Given the description of an element on the screen output the (x, y) to click on. 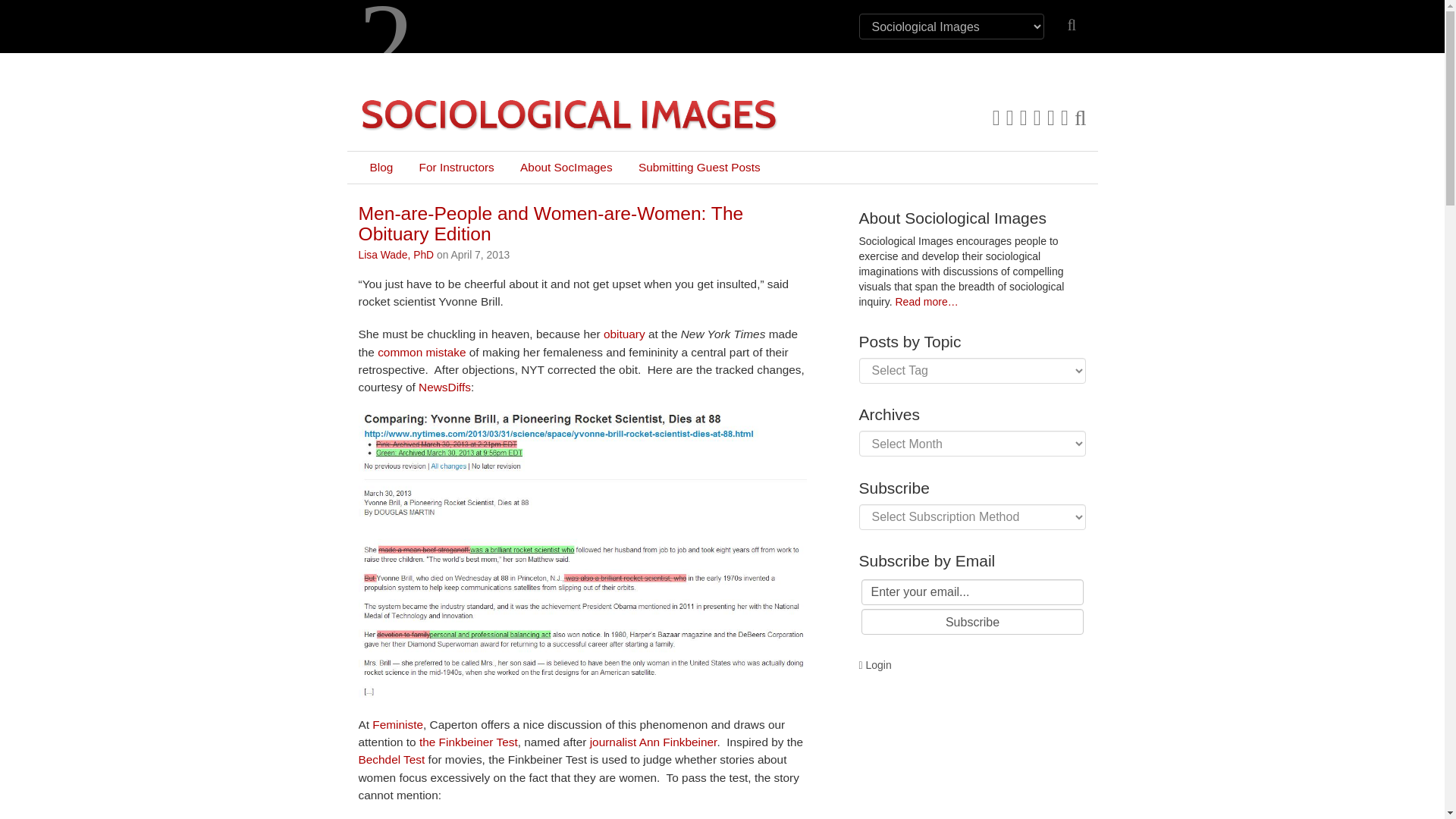
Blog (381, 167)
Feministe (397, 724)
the Finkbeiner Test (468, 741)
About SocImages (566, 167)
journalist Ann Finkbeiner (653, 741)
Blog (381, 167)
NewsDiffs (444, 386)
Submitting Guest Posts (699, 167)
Enter your email... (972, 592)
Lisa Wade, PhD (395, 254)
Submitting Guest Posts (699, 167)
For Instructors (456, 167)
For Instructors (456, 167)
Subscribe (972, 621)
About SocImages (566, 167)
